Given the description of an element on the screen output the (x, y) to click on. 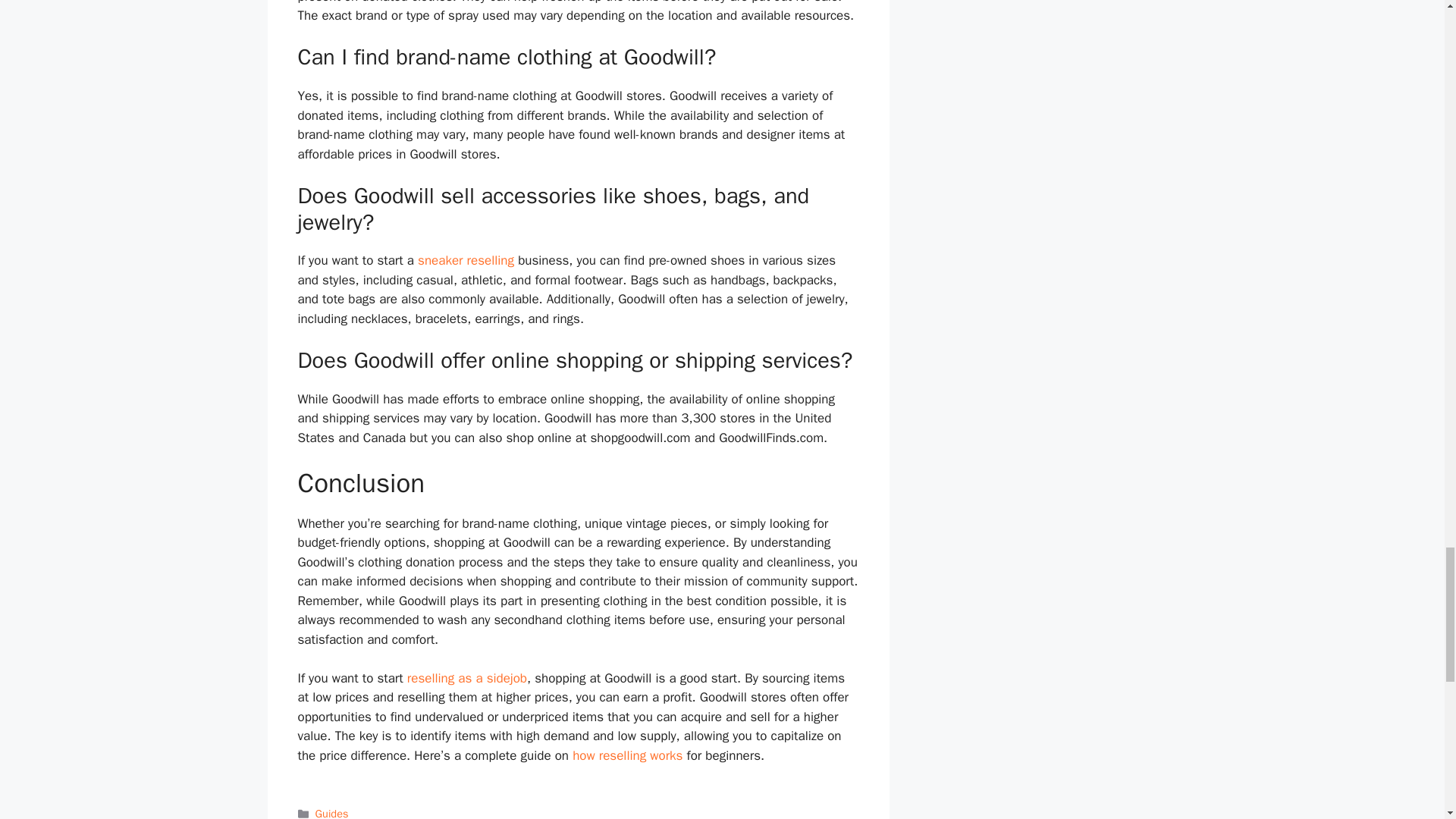
reselling as a sidejob (467, 678)
Guides (332, 812)
sneaker reselling (465, 260)
how reselling works (627, 755)
